Given the description of an element on the screen output the (x, y) to click on. 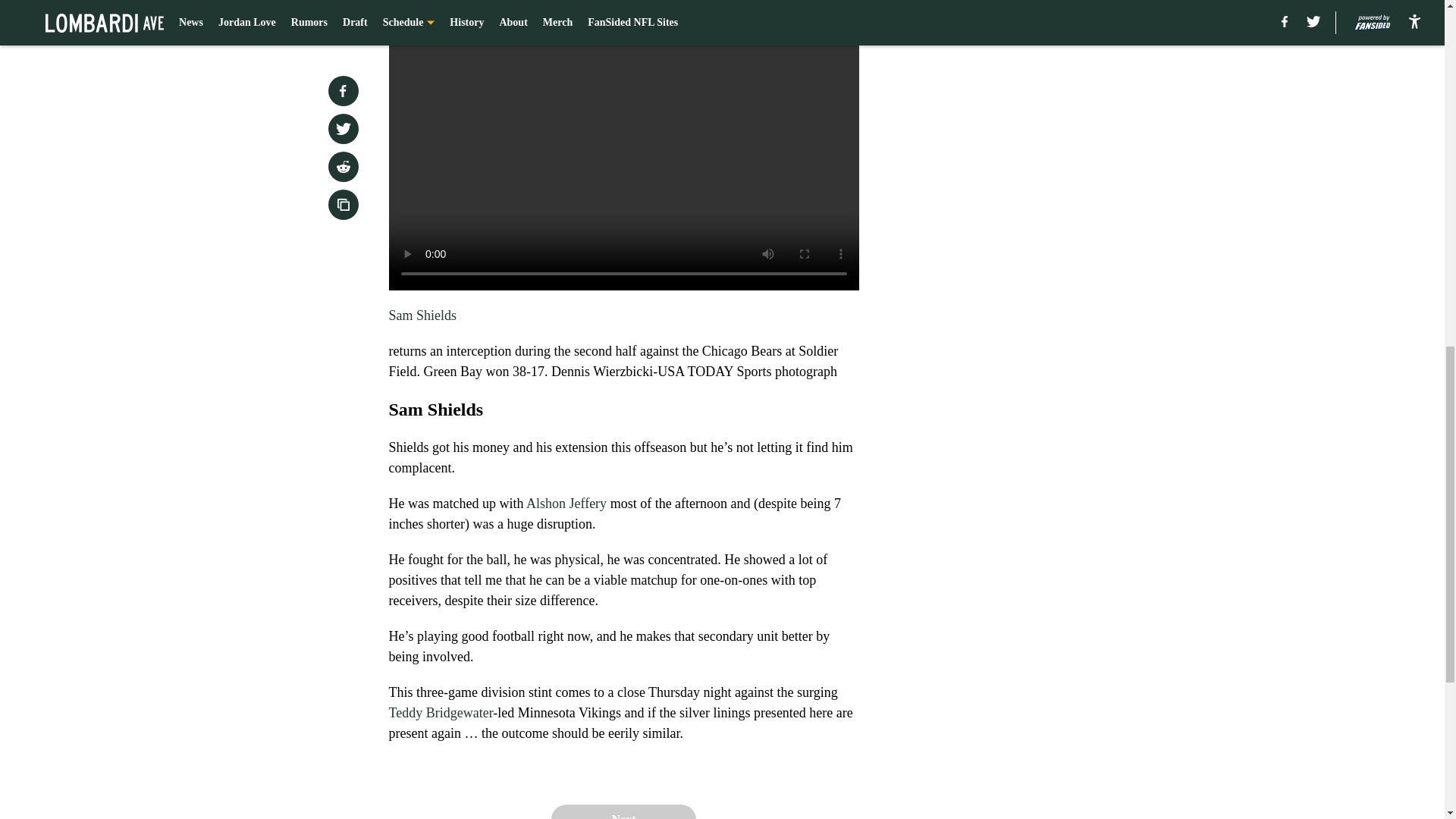
Alshon Jeffery (566, 503)
Next (813, 5)
Sam Shields (422, 314)
Next (622, 811)
Teddy Bridgewater (440, 712)
Prev (433, 5)
